Given the description of an element on the screen output the (x, y) to click on. 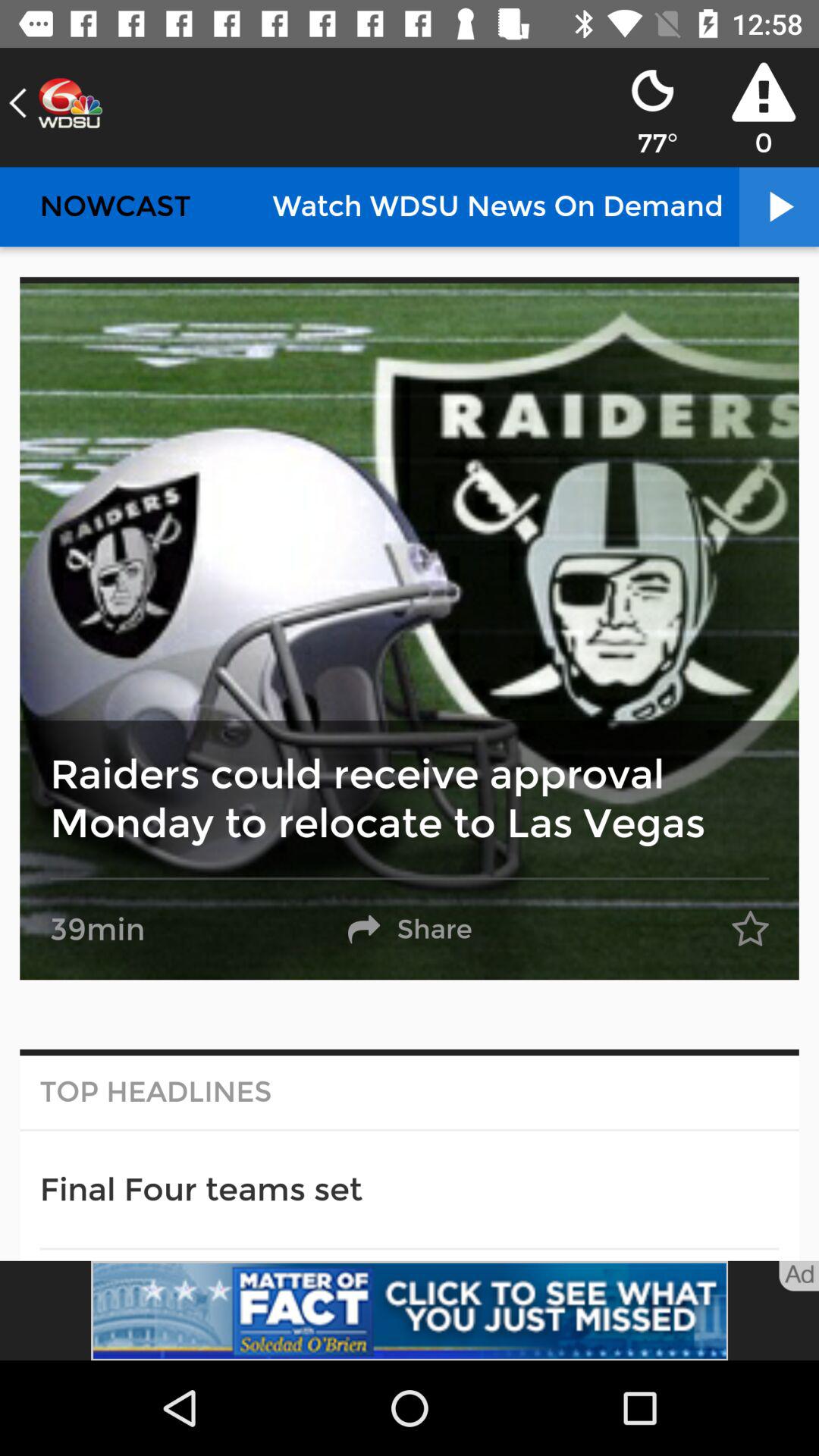
select the share option (409, 929)
click on the icon above 0 (763, 92)
